Given the description of an element on the screen output the (x, y) to click on. 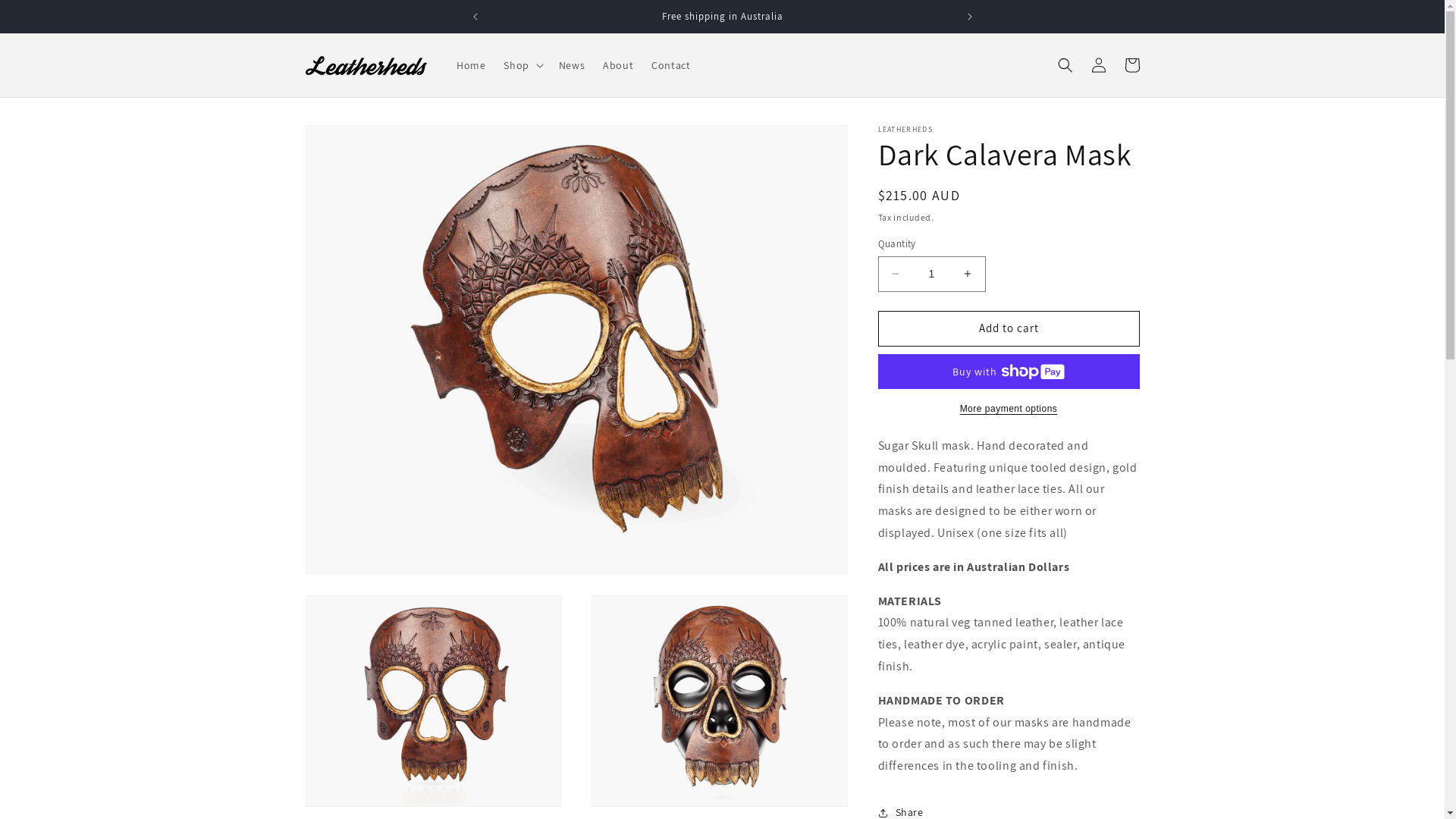
Contact Element type: text (670, 65)
Add to cart Element type: text (1008, 328)
Log in Element type: text (1097, 64)
Skip to product information Element type: text (350, 142)
Decrease quantity for Dark Calavera Mask Element type: text (895, 273)
News Element type: text (571, 65)
Home Element type: text (470, 65)
Cart Element type: text (1131, 64)
More payment options Element type: text (1008, 408)
Increase quantity for Dark Calavera Mask Element type: text (967, 273)
About Element type: text (617, 65)
